Given the description of an element on the screen output the (x, y) to click on. 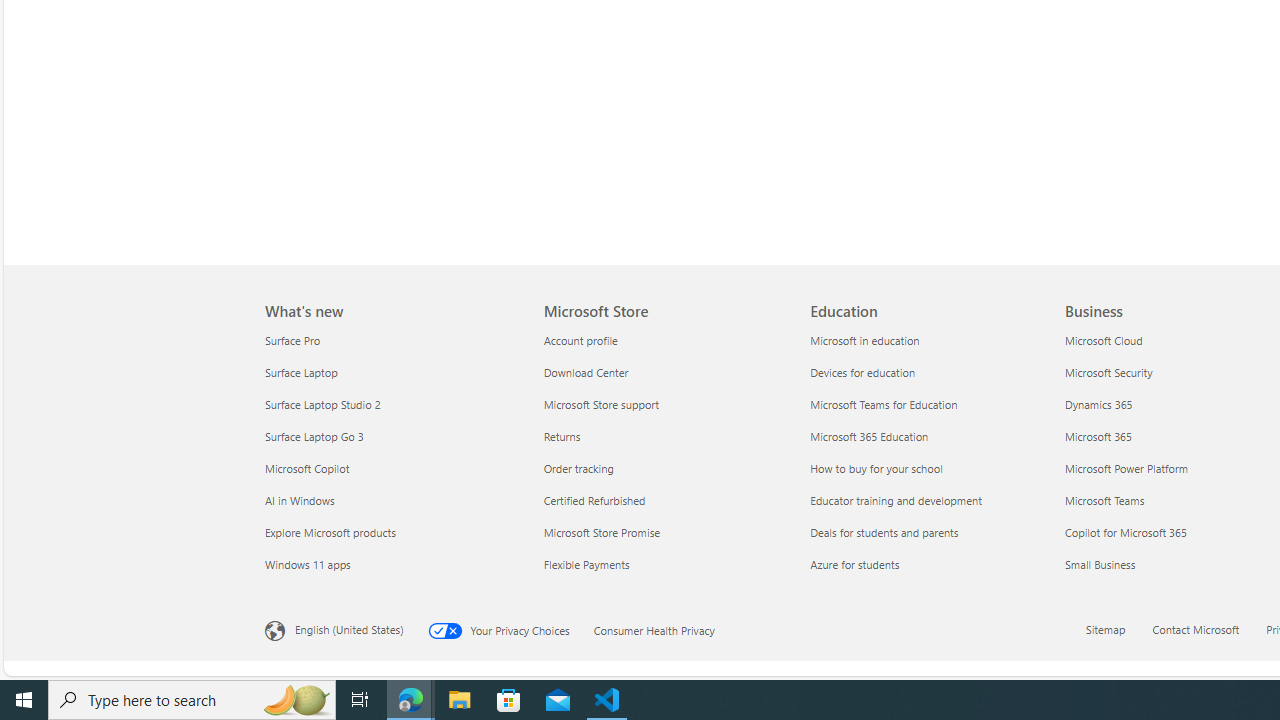
Returns Microsoft Store (561, 435)
Microsoft Copilot What's new (306, 467)
Microsoft Power Platform Business (1126, 467)
Order tracking Microsoft Store (578, 467)
